Given the description of an element on the screen output the (x, y) to click on. 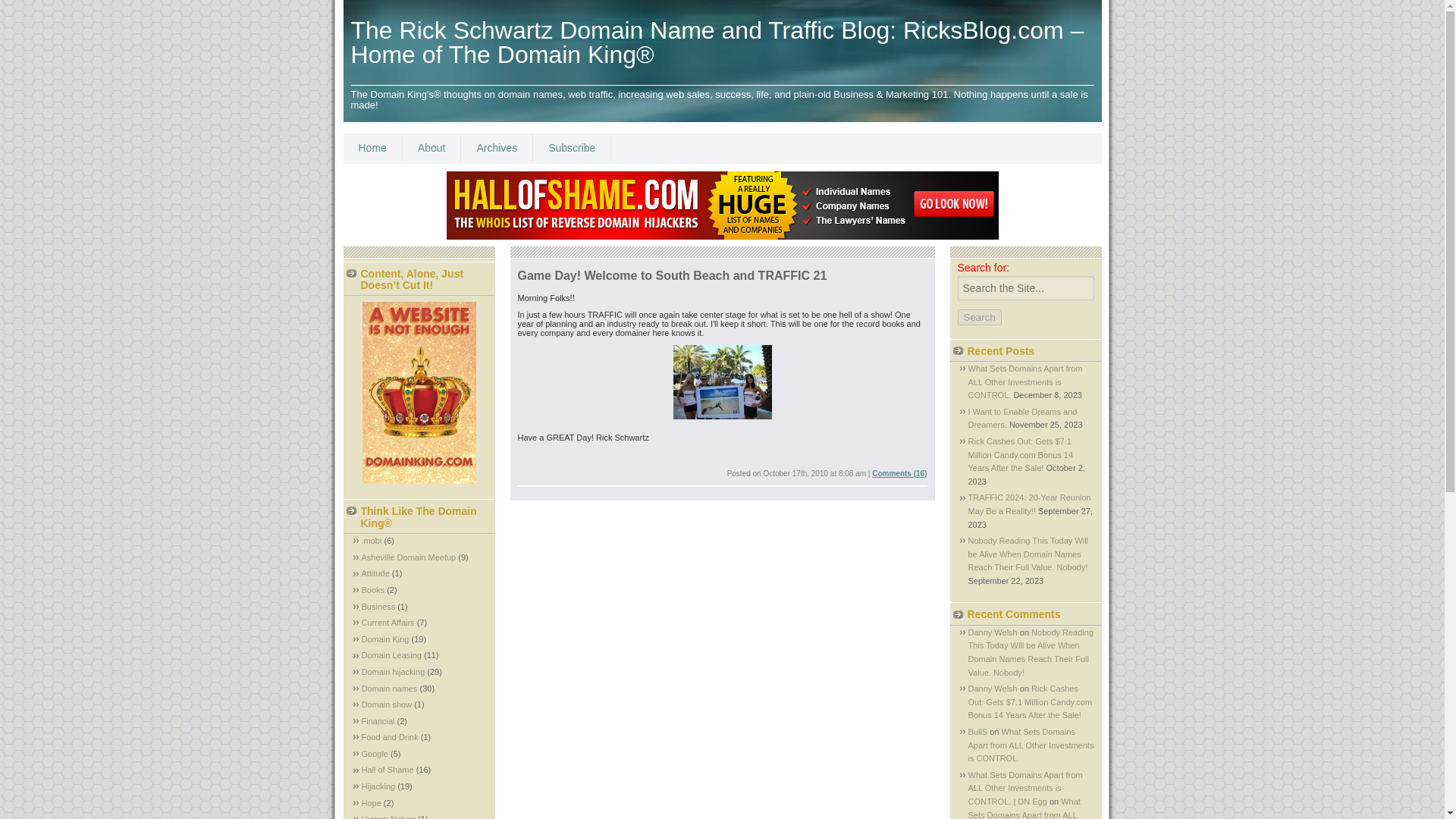
Hall of Shame (387, 768)
Current Affairs (387, 622)
Books (372, 589)
Domain names (388, 687)
Attitude (374, 573)
Financial (377, 720)
Archives (496, 147)
Human Nature (387, 816)
Domain hijacking (393, 671)
Game Day! Welcome to South Beach and TRAFFIC 21 (671, 275)
